Given the description of an element on the screen output the (x, y) to click on. 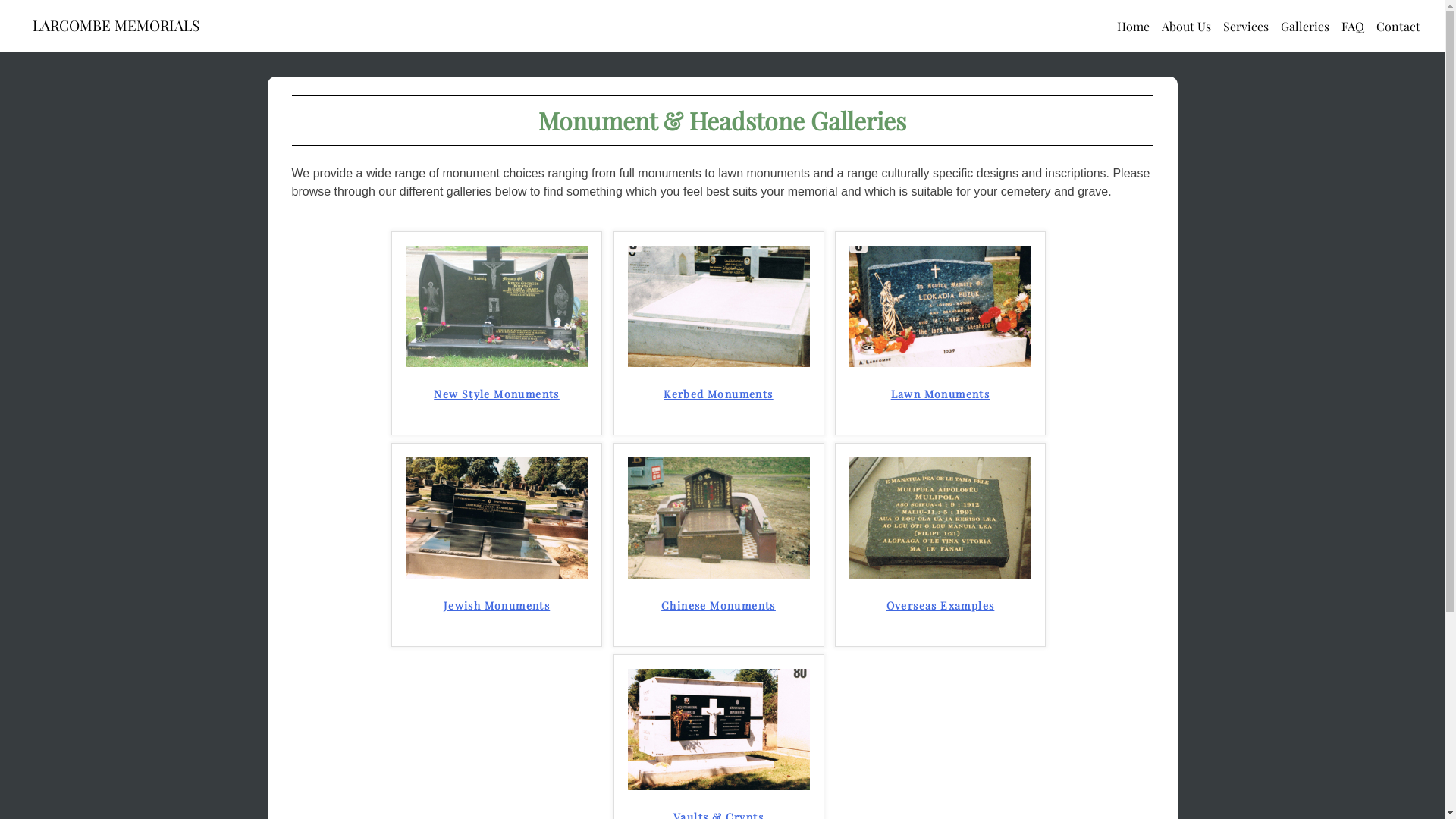
About Us Element type: text (1186, 26)
Jewish Monuments Element type: hover (496, 573)
Vaults & Crypts Element type: hover (718, 785)
Contact Element type: text (1398, 26)
Kerbed Monuments Element type: text (718, 405)
Home Element type: text (1133, 26)
FAQ Element type: text (1352, 26)
Galleries Element type: text (1304, 26)
New Style Monuments Element type: text (496, 405)
Services Element type: text (1245, 26)
Chinese Monuments Element type: hover (718, 573)
Lawn Monuments Element type: hover (940, 362)
Jewish Monuments Element type: text (496, 617)
Overseas Examples Element type: text (940, 617)
Chinese Monuments Element type: text (718, 617)
Kerbed Monuments Element type: hover (718, 362)
Overseas Examples Element type: hover (940, 573)
New Style Monuments Element type: hover (496, 362)
LARCOMBE MEMORIALS Element type: text (115, 24)
Lawn Monuments Element type: text (940, 405)
